Given the description of an element on the screen output the (x, y) to click on. 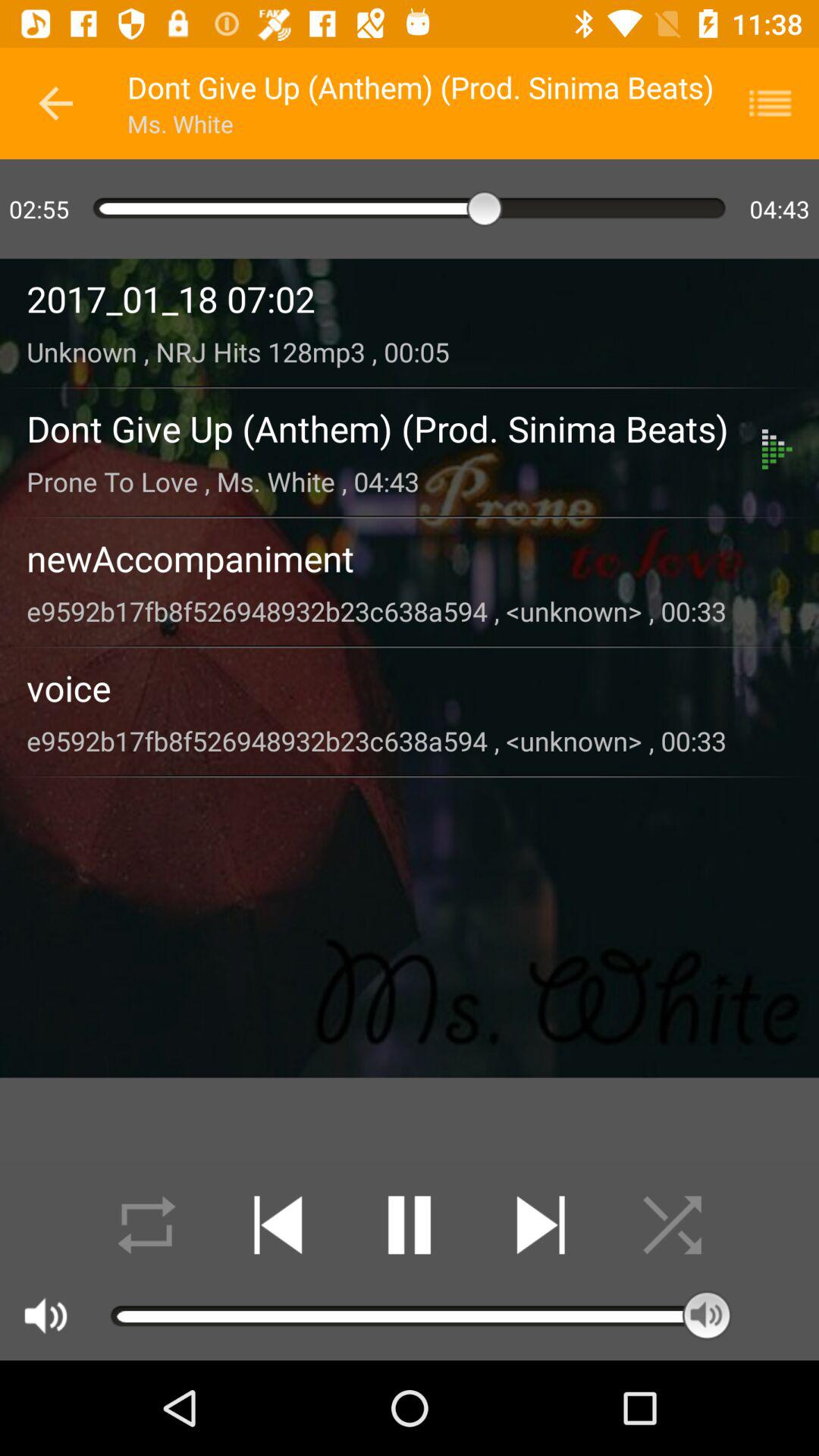
swipe until prone to love item (394, 481)
